Given the description of an element on the screen output the (x, y) to click on. 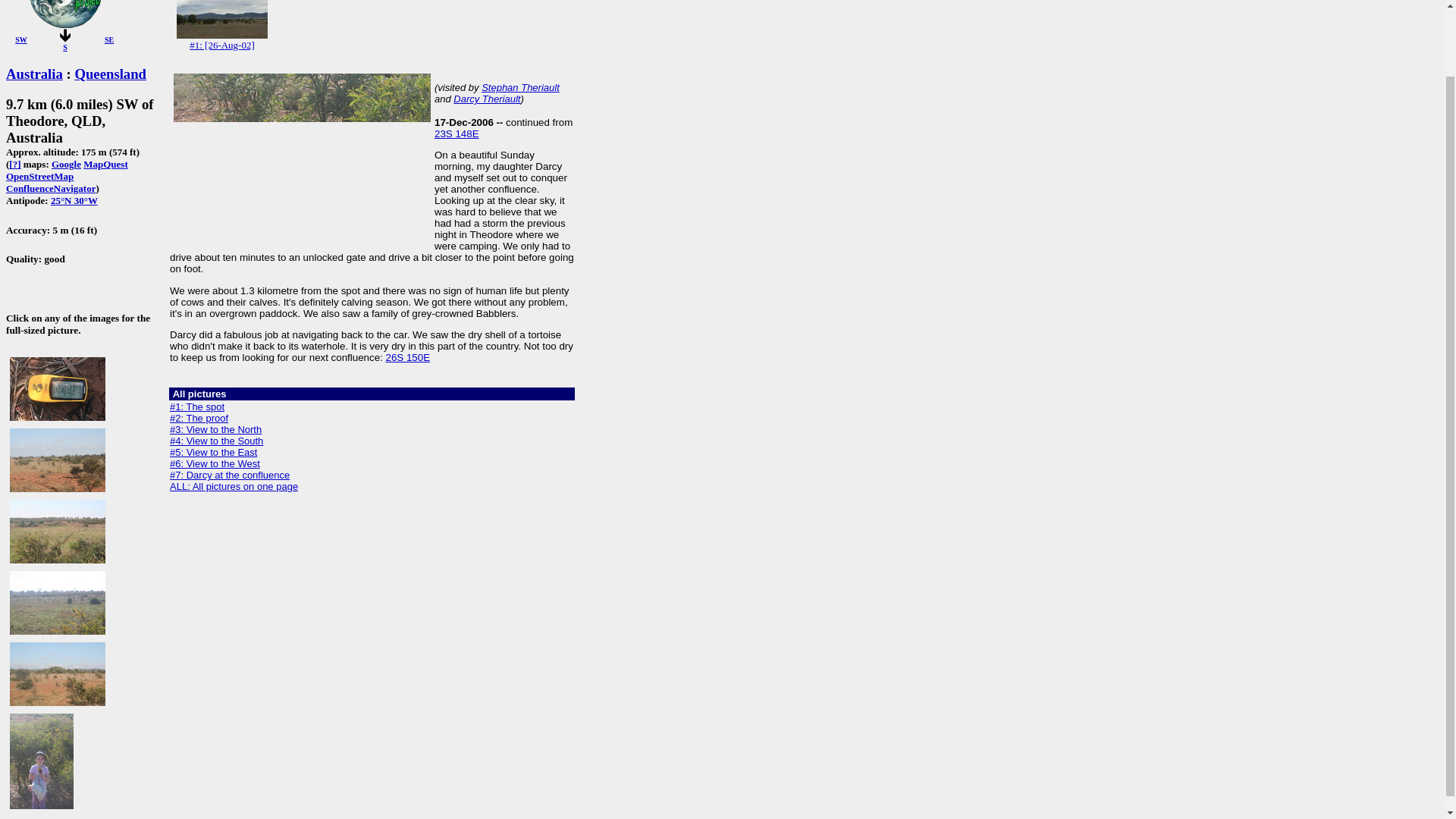
SW (20, 40)
OpenStreetMap (39, 175)
The confluence opposite this confluence on the globe (73, 200)
Stephan Theriault (520, 87)
S (65, 35)
ConfluenceNavigator (50, 188)
SE (108, 40)
Darcy Theriault (485, 98)
Google (65, 163)
26S 150E (407, 357)
S (64, 47)
Queensland (110, 73)
23S 148E (456, 133)
Australia (33, 73)
MapQuest (105, 163)
